Given the description of an element on the screen output the (x, y) to click on. 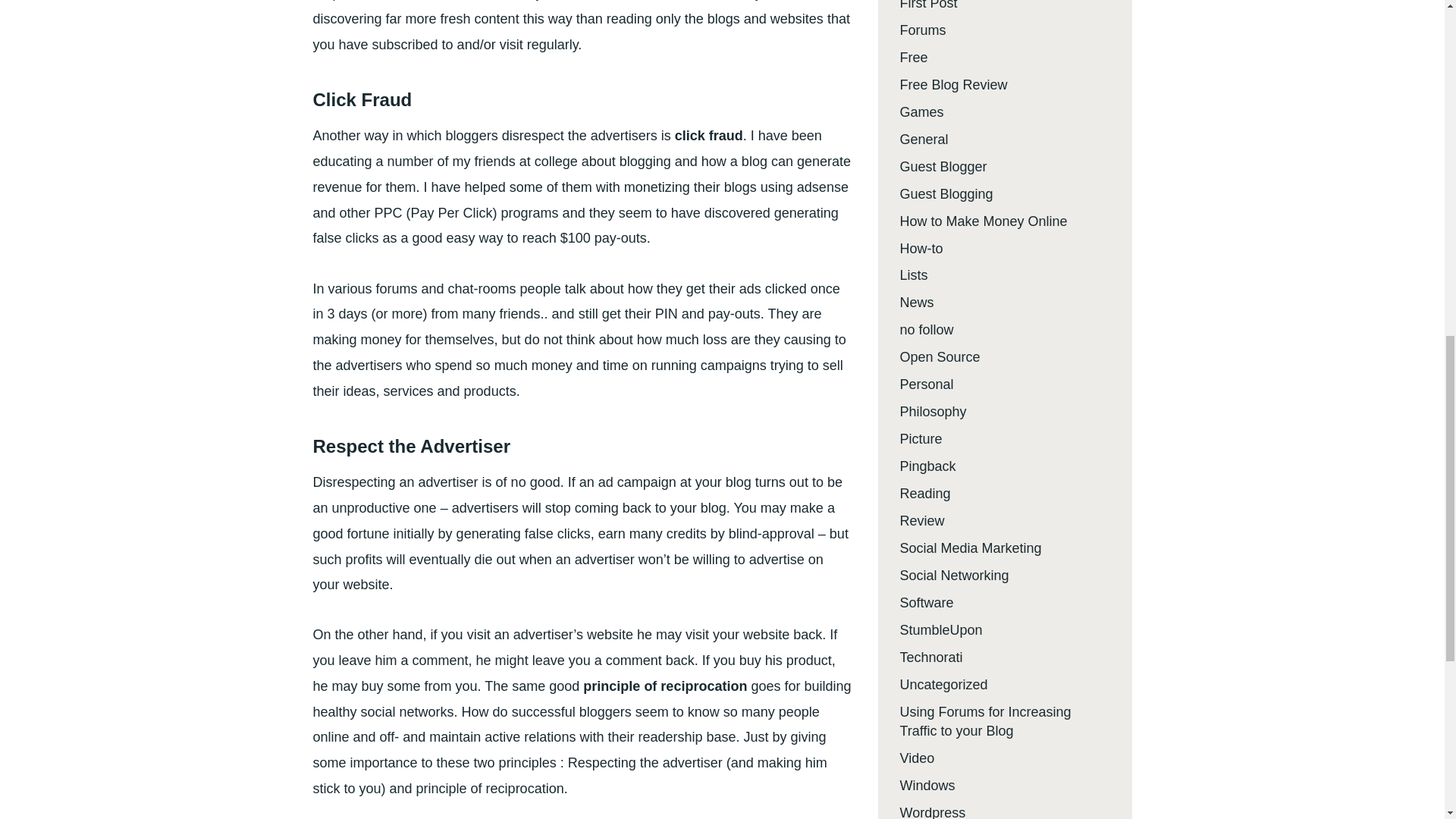
Guest Blogging (945, 193)
Games (921, 111)
First Post (927, 5)
Guest Blogger (943, 166)
Forums (921, 29)
Free Blog Review (953, 84)
General (923, 139)
Free (913, 57)
